Given the description of an element on the screen output the (x, y) to click on. 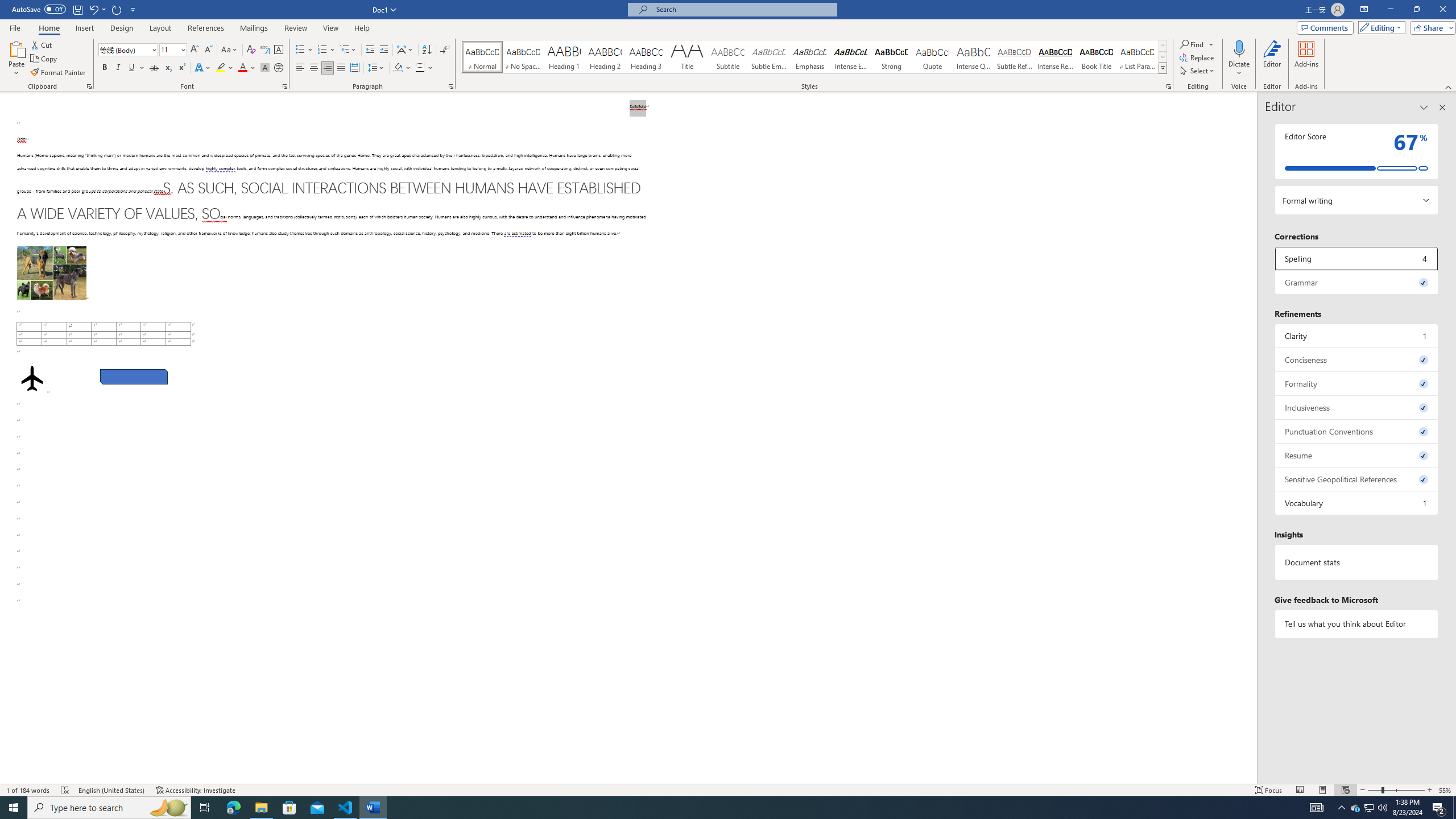
Strong (891, 56)
Heading 2 (605, 56)
Intense Quote (973, 56)
Editor Score 67% (1356, 151)
Subtle Reference (1014, 56)
Conciseness, 0 issues. Press space or enter to review items. (1356, 359)
